Given the description of an element on the screen output the (x, y) to click on. 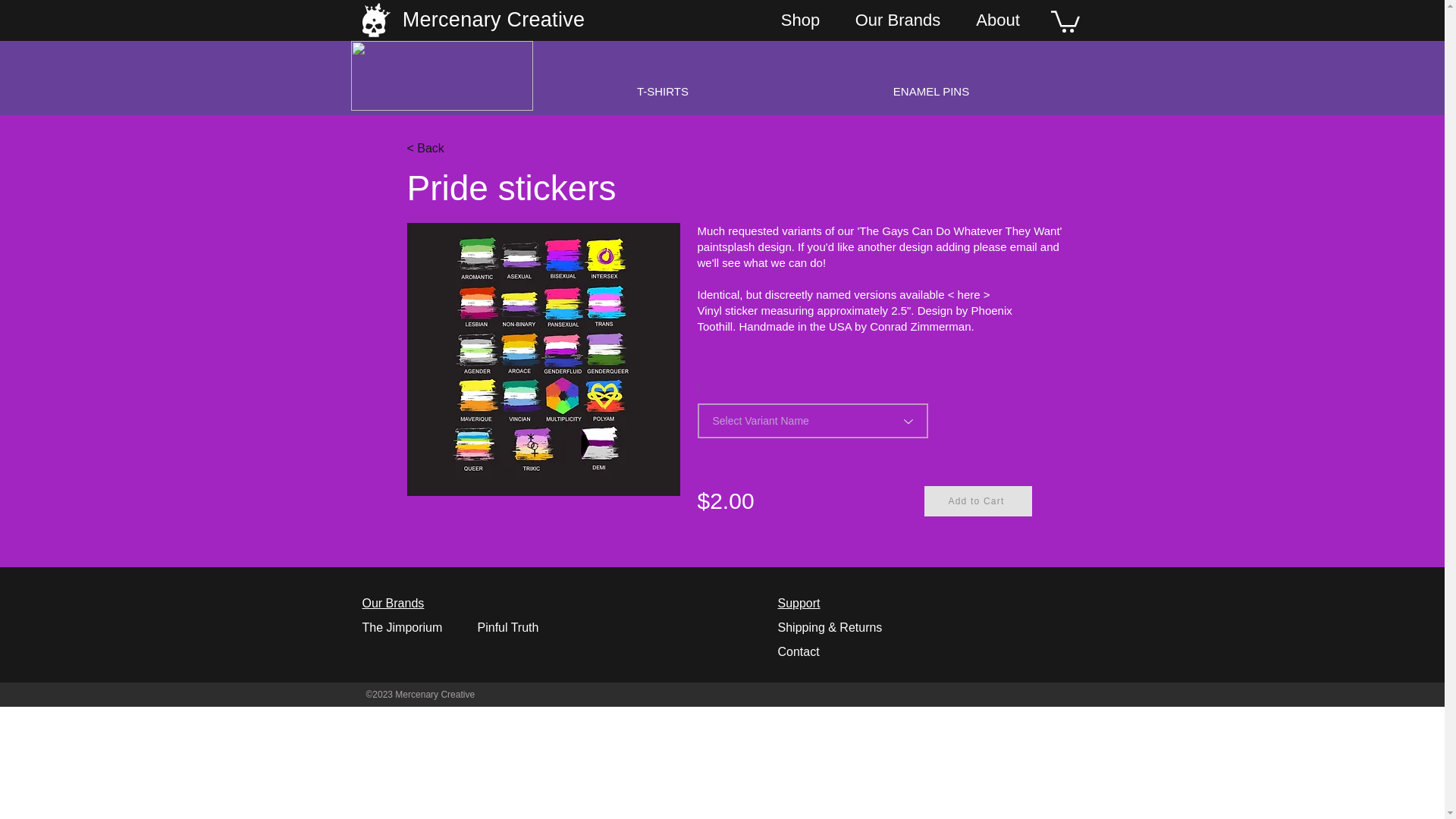
Add to Cart (976, 501)
Pinful Truth (507, 626)
T-SHIRTS (662, 91)
Contact (798, 651)
ENAMEL PINS (931, 91)
The Jimporium (402, 626)
Our Brands (393, 603)
About (997, 20)
file.jpg (542, 359)
